Given the description of an element on the screen output the (x, y) to click on. 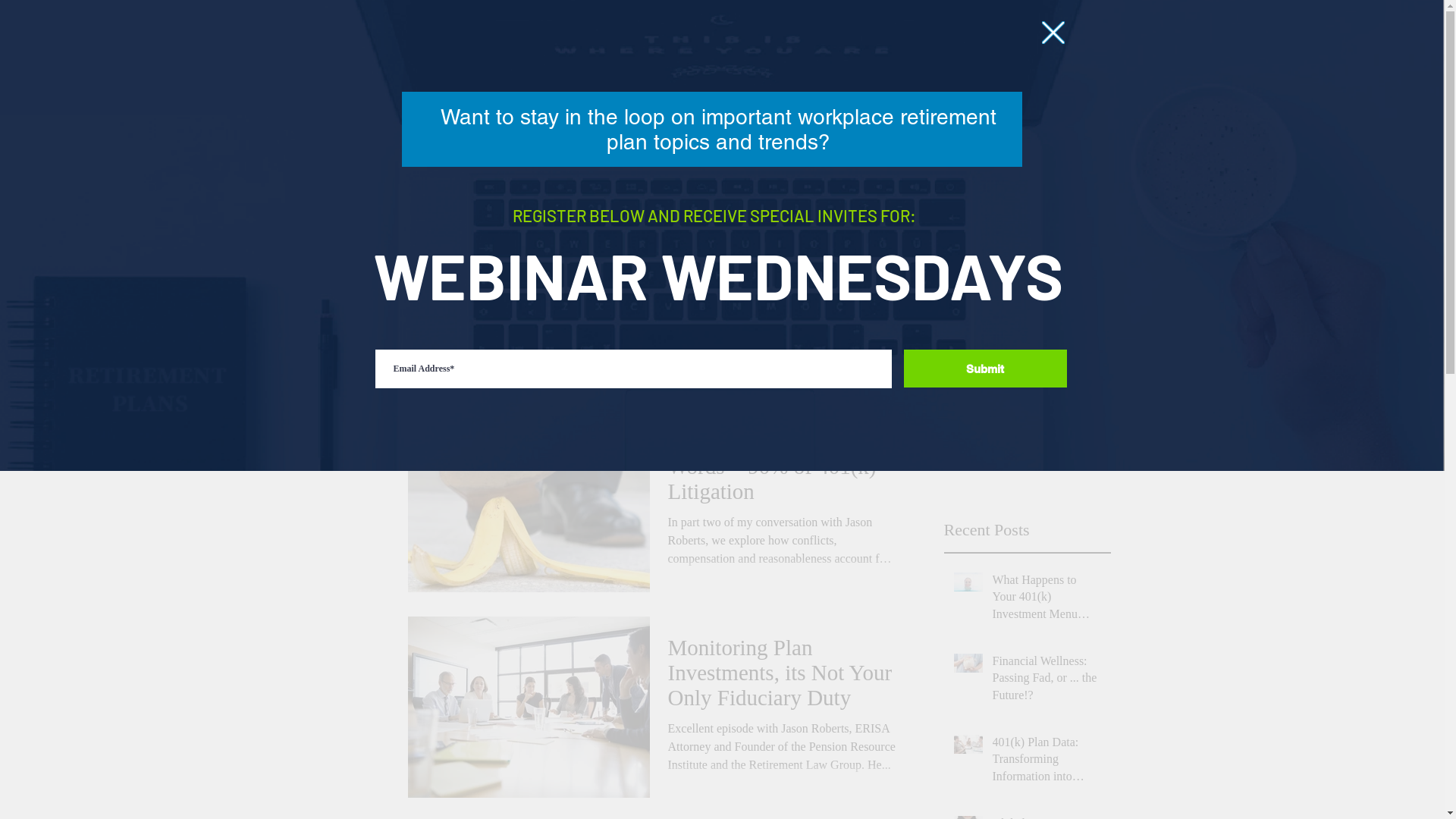
FEEDBACK Element type: text (1023, 39)
HOME Element type: text (409, 39)
PODCAST EPISODES Element type: text (564, 39)
Why: The Ultimate Quest for the 401(k) Plan Fiduciary! Element type: text (1190, 425)
Back to site Element type: hover (1052, 32)
Submit Element type: text (984, 368)
Financial Wellness: Passing Fad, or ... the Future!? Element type: text (1046, 680)
Three Not So Simple Words = 90% of 401(k) Litigation Element type: text (782, 470)
SUBSCRIBE Element type: text (878, 39)
401(k) Plan Data: Transforming Information into Insights! Element type: text (1046, 762)
WEBINARS Element type: text (732, 39)
How Washington will Impact your 401(k) in 2016 Element type: text (782, 264)
